Given the description of an element on the screen output the (x, y) to click on. 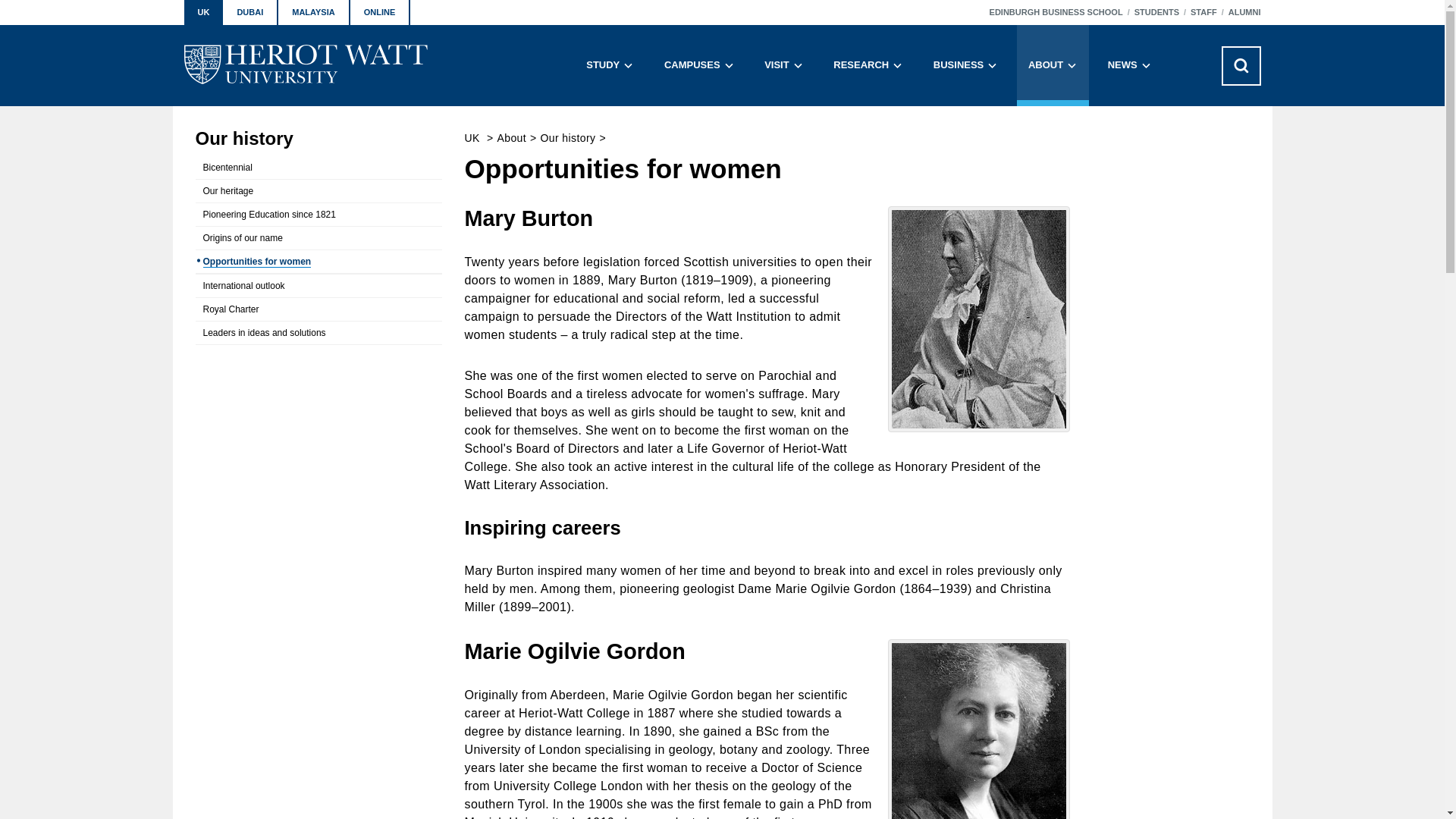
DUBAI (250, 12)
EDINBURGH BUSINESS SCHOOL (1056, 12)
UK (202, 12)
STUDENTS (1156, 12)
ONLINE (380, 12)
MALAYSIA (313, 12)
STAFF (1204, 12)
ALUMNI (1244, 12)
